Given the description of an element on the screen output the (x, y) to click on. 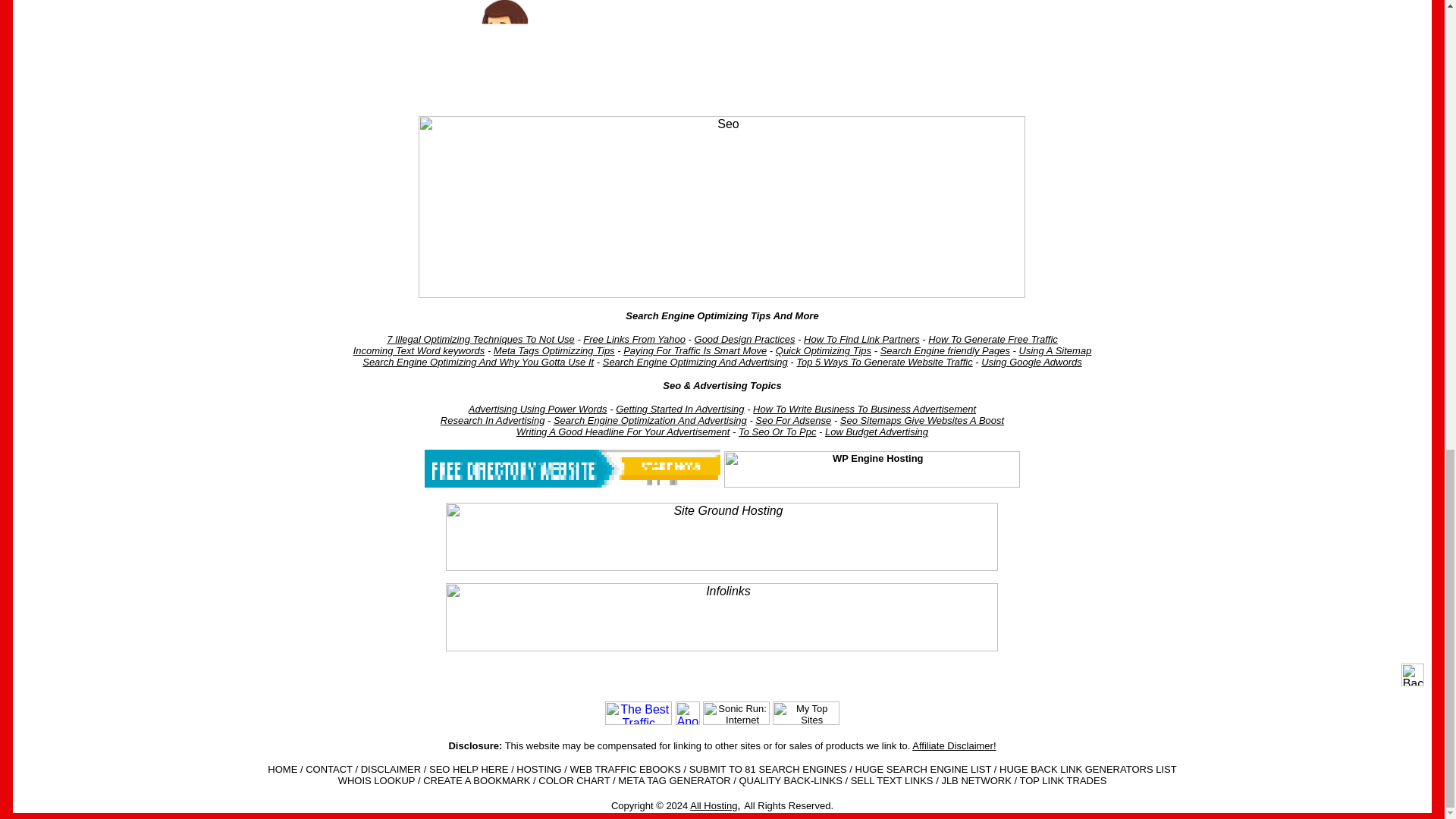
WP Engine Hosting (871, 469)
Search Engine Optimizing And Advertising (694, 361)
Good Design Practices (744, 338)
Search Engine Optimizing And Why You Gotta Use It (478, 361)
Using A Sitemap (1055, 350)
How To Generate Free Traffic (993, 338)
Submit To Search Engines (722, 52)
Anoox Social (687, 712)
Incoming Text Word keywords (418, 350)
7 Illegal Optimizing Techniques To Not Use (481, 338)
